Given the description of an element on the screen output the (x, y) to click on. 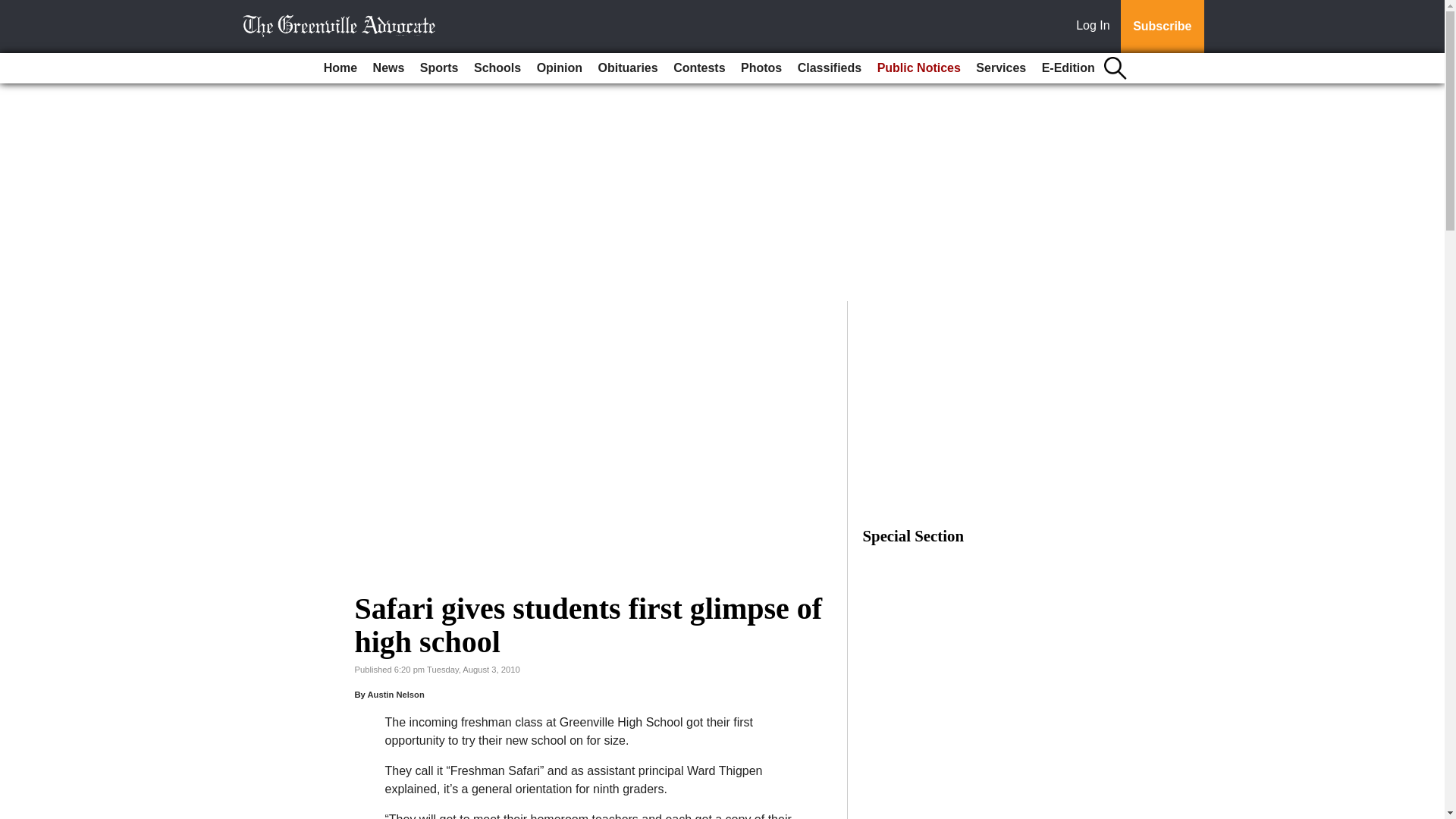
Home (339, 68)
Services (1000, 68)
Obituaries (627, 68)
Contests (698, 68)
News (388, 68)
Photos (761, 68)
Schools (497, 68)
E-Edition (1067, 68)
Log In (1095, 26)
Sports (438, 68)
Austin Nelson (394, 694)
Opinion (559, 68)
Go (13, 9)
Public Notices (918, 68)
Classifieds (829, 68)
